Given the description of an element on the screen output the (x, y) to click on. 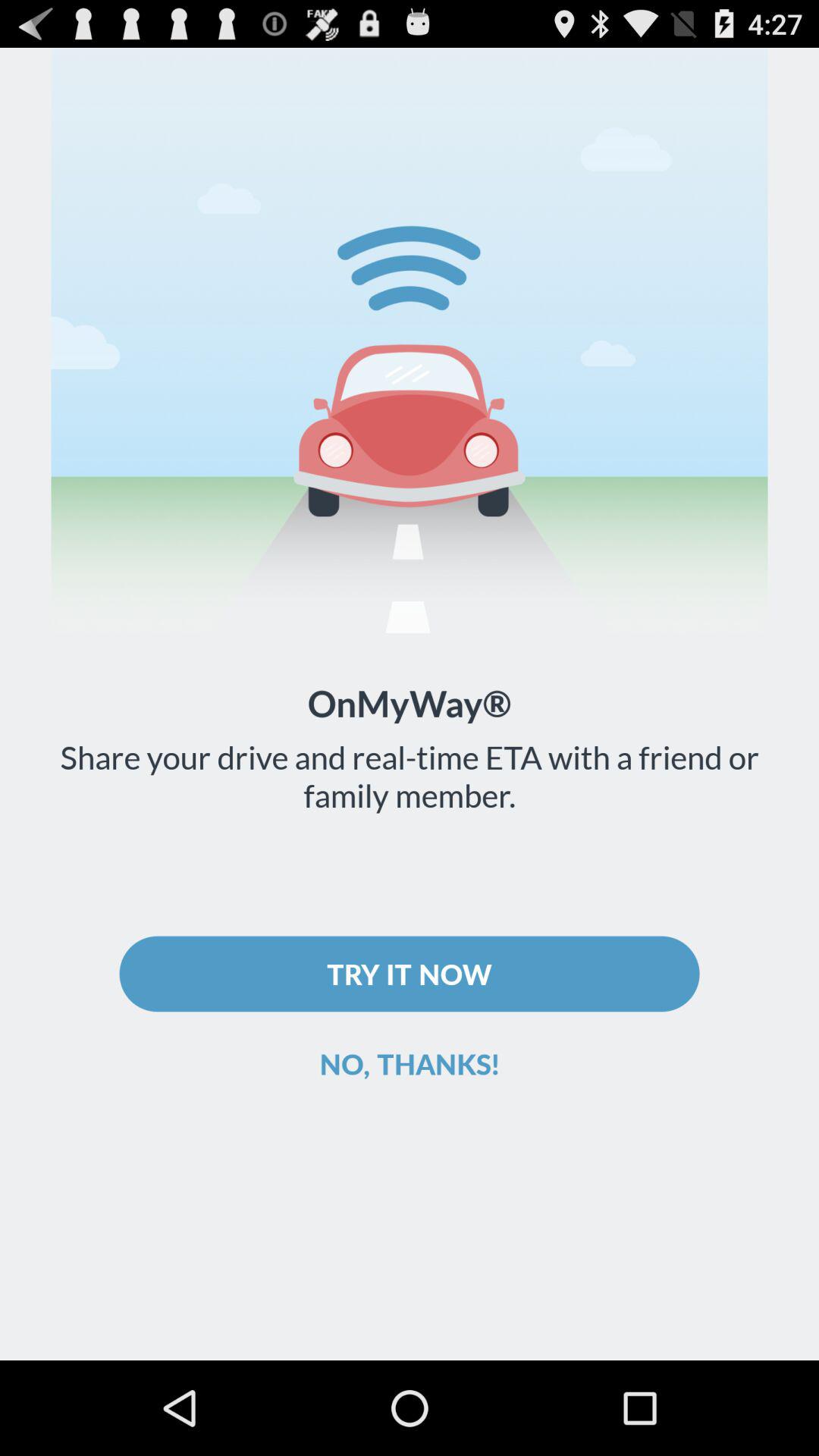
jump to the try it now (409, 973)
